Given the description of an element on the screen output the (x, y) to click on. 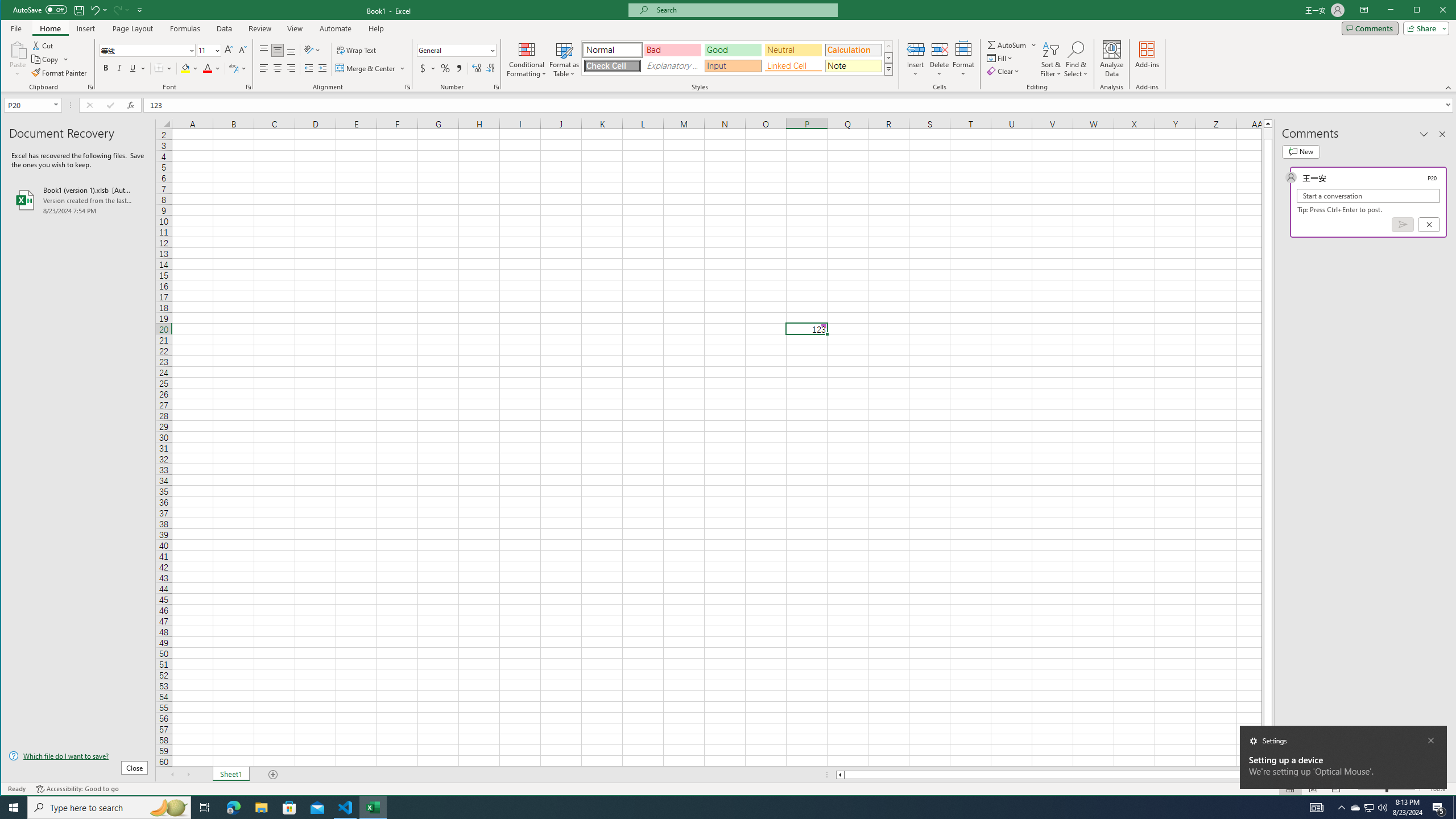
Zoom Out (1372, 788)
New comment (1300, 151)
Scroll Left (172, 774)
Page right (1249, 774)
Insert Scatter (X, Y) or Bubble Chart (371, 70)
User Promoted Notification Area (1368, 807)
Insert Column or Bar Chart (350, 44)
Home (50, 28)
Accessibility Checker Accessibility: Good to go (77, 788)
Automate (336, 28)
Column right (1258, 774)
Object... (848, 59)
PivotChart (443, 48)
Microsoft Edge (233, 807)
